Given the description of an element on the screen output the (x, y) to click on. 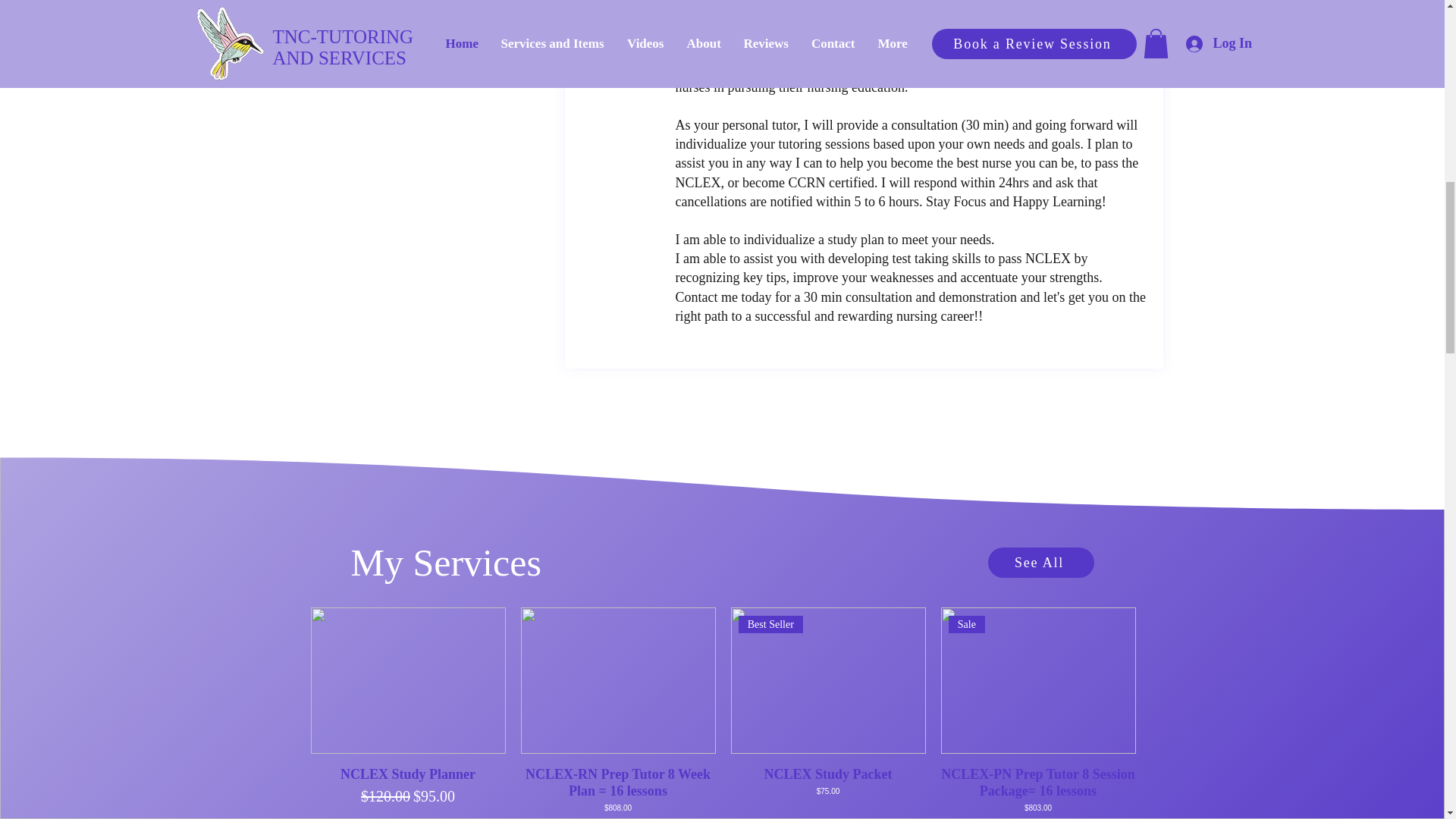
See All (1040, 562)
Best Seller (828, 680)
Sale (1037, 680)
